Given the description of an element on the screen output the (x, y) to click on. 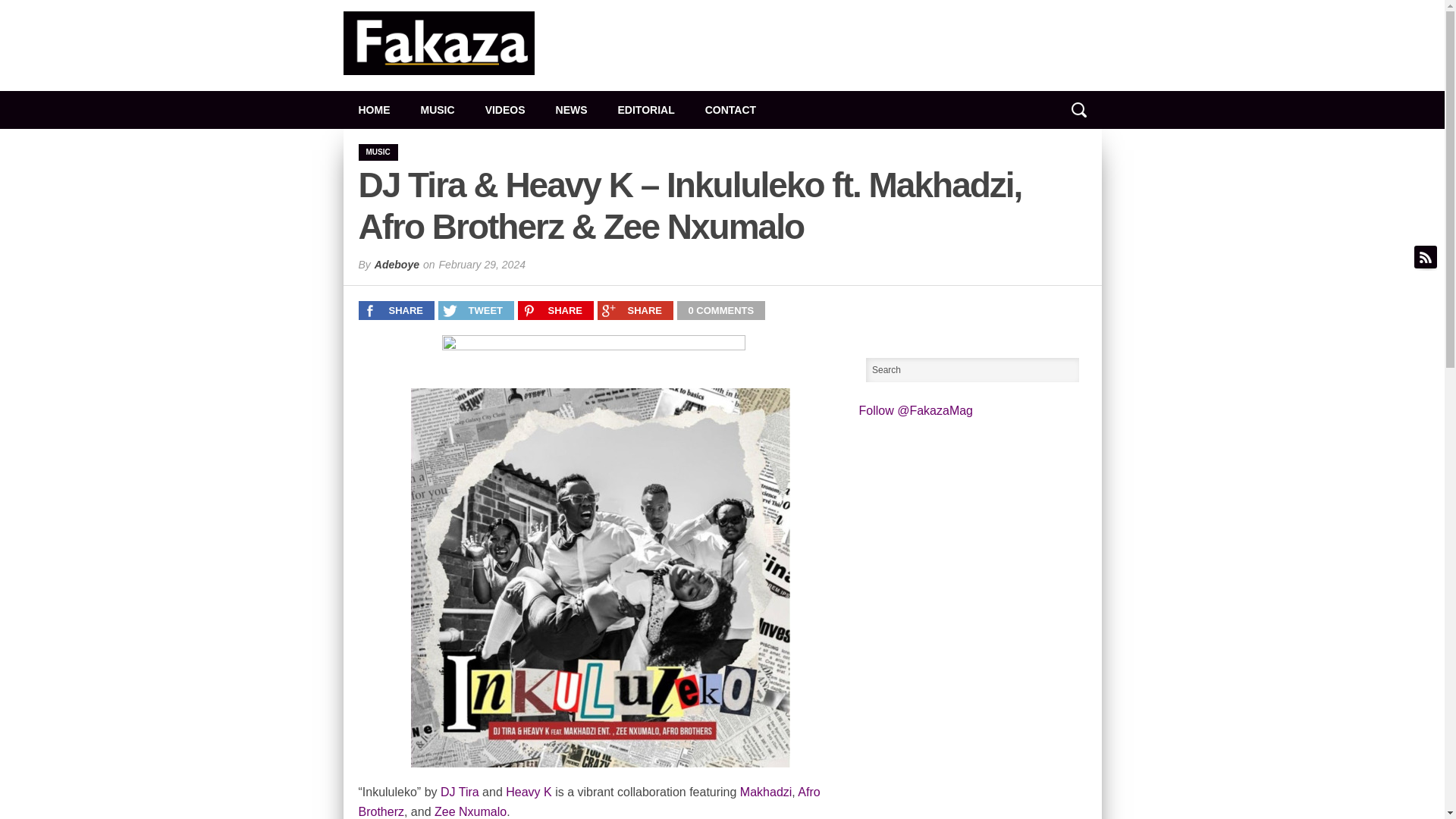
Afro Brotherz (588, 801)
Makhadzi (765, 791)
Zee Nxumalo (469, 811)
Afro Brotherz (588, 801)
Heavy K (528, 791)
Zee Nxumalo (469, 811)
DJ Tira (460, 791)
Search (973, 369)
HOME (373, 109)
NEWS (571, 109)
